Given the description of an element on the screen output the (x, y) to click on. 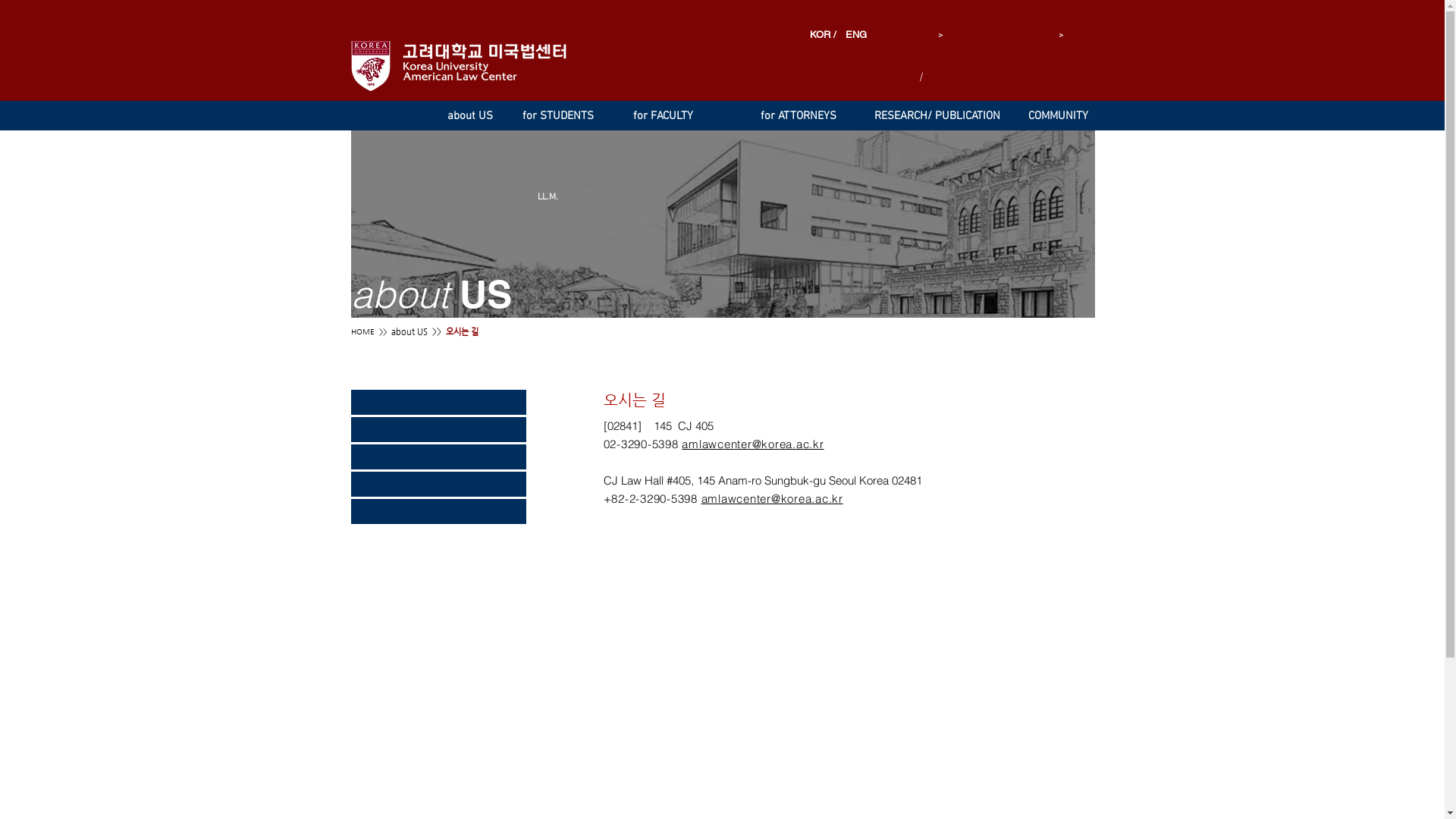
ENG Element type: text (852, 34)
for STUDENTS Element type: text (563, 115)
COMMUNITY Element type: text (1061, 115)
KOR / Element type: text (825, 34)
amlawcenter@korea.ac.kr Element type: text (771, 498)
for ATTORNEYS Element type: text (803, 115)
about US Element type: text (409, 331)
for FACULTY Element type: text (673, 115)
RESEARCH/ PUBLICATION Element type: text (952, 115)
about US Element type: text (476, 115)
Site Search Element type: hover (1029, 72)
HOME Element type: text (361, 331)
amlawcenter@korea.ac.kr Element type: text (752, 443)
